Given the description of an element on the screen output the (x, y) to click on. 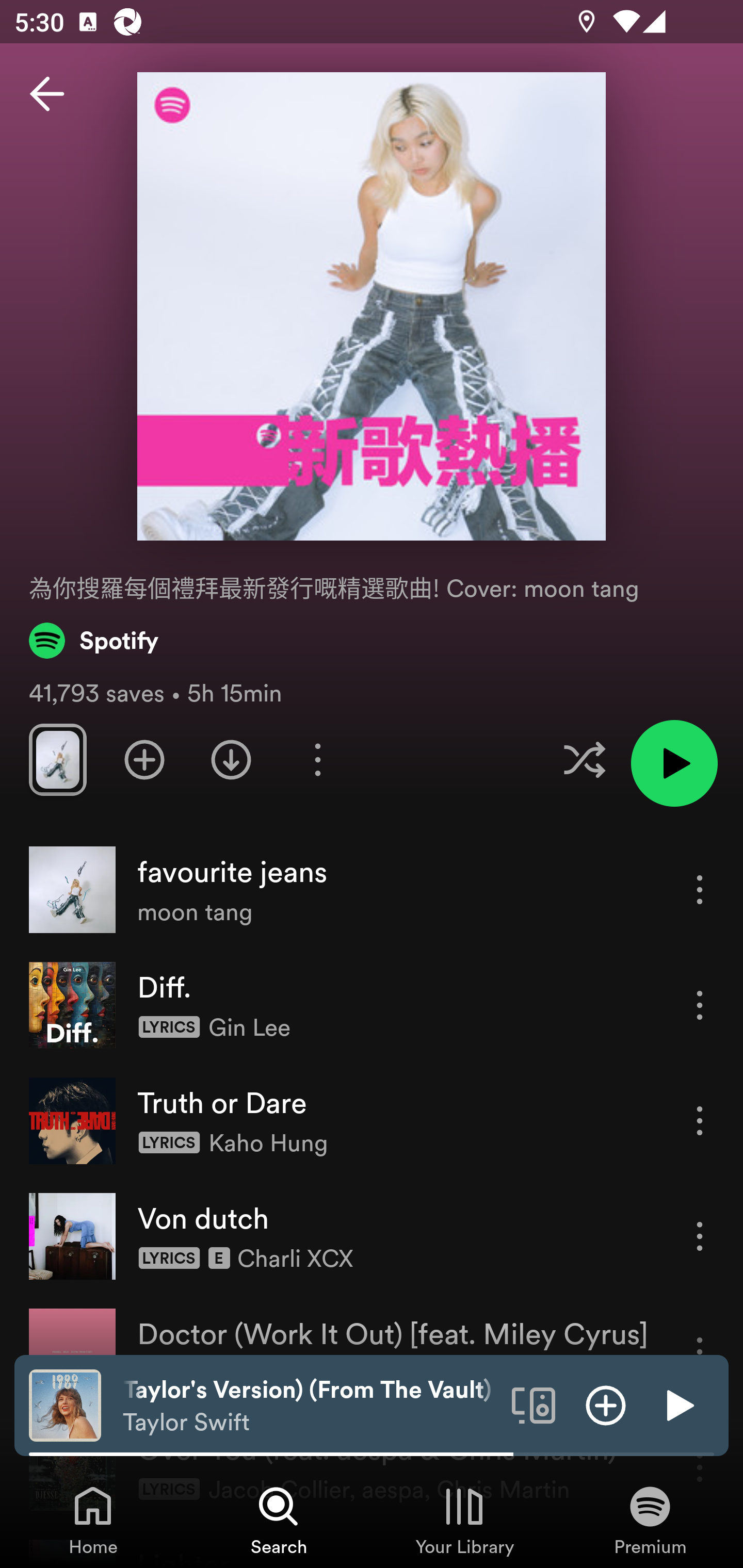
Back (46, 93)
Spotify (93, 640)
Add playlist to Your Library (144, 759)
Download (230, 759)
More options for playlist 新歌熱播 (317, 759)
Enable shuffle for this playlist (583, 759)
Play playlist (674, 763)
More options for song favourite jeans (699, 889)
Diff. More options for song Diff. Lyrics Gin Lee (371, 1005)
More options for song Diff. (699, 1004)
More options for song Truth or Dare (699, 1120)
More options for song Von dutch (699, 1236)
The cover art of the currently playing track (64, 1404)
Connect to a device. Opens the devices menu (533, 1404)
Add item (605, 1404)
Play (677, 1404)
Search, Tab 2 of 4 Search Search (278, 1519)
Your Library, Tab 3 of 4 Your Library Your Library (464, 1519)
Premium, Tab 4 of 4 Premium Premium (650, 1519)
